Given the description of an element on the screen output the (x, y) to click on. 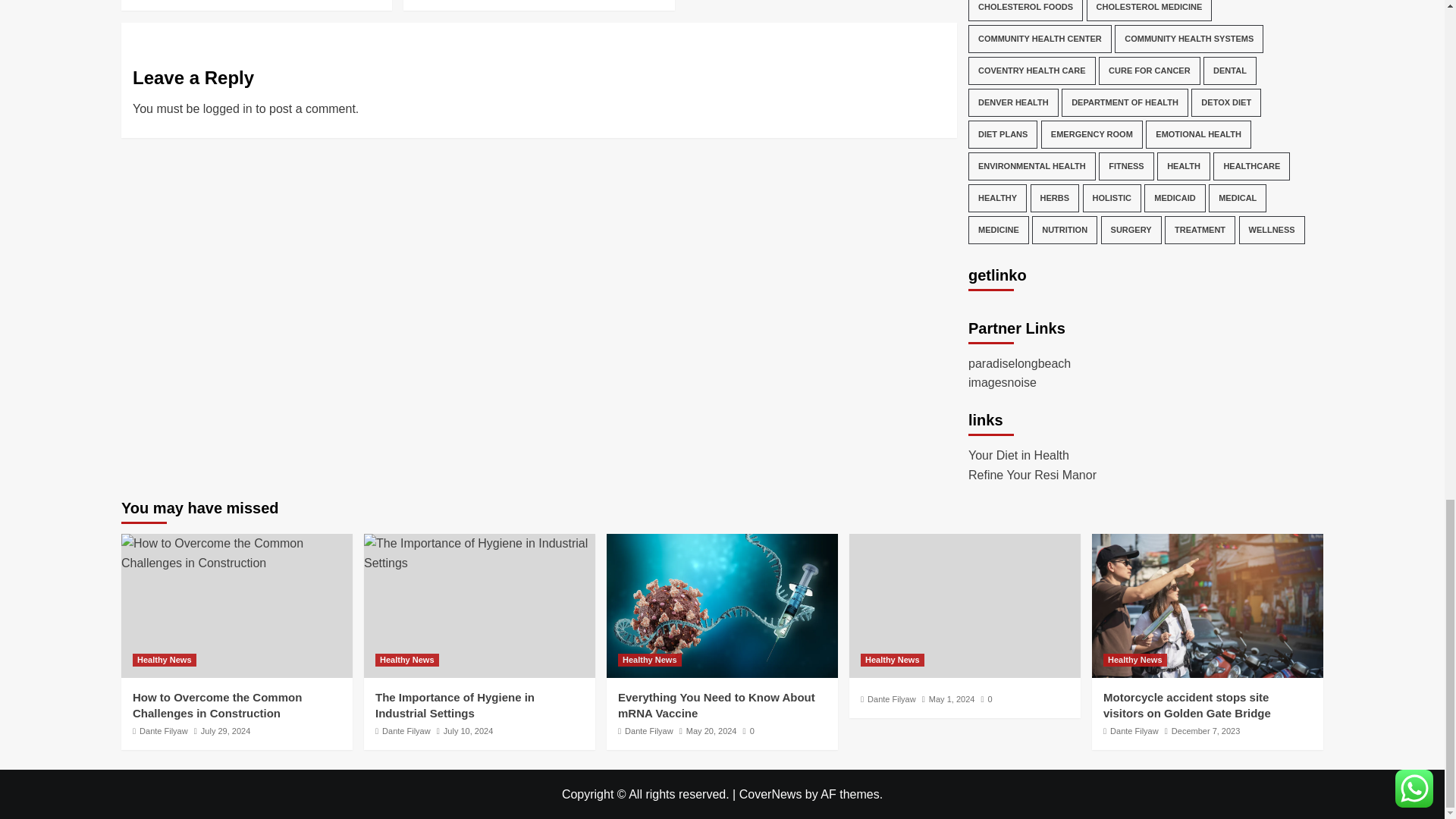
The Importance of Hygiene in Industrial Settings (479, 552)
How to Overcome the Common Challenges in Construction (236, 552)
